Given the description of an element on the screen output the (x, y) to click on. 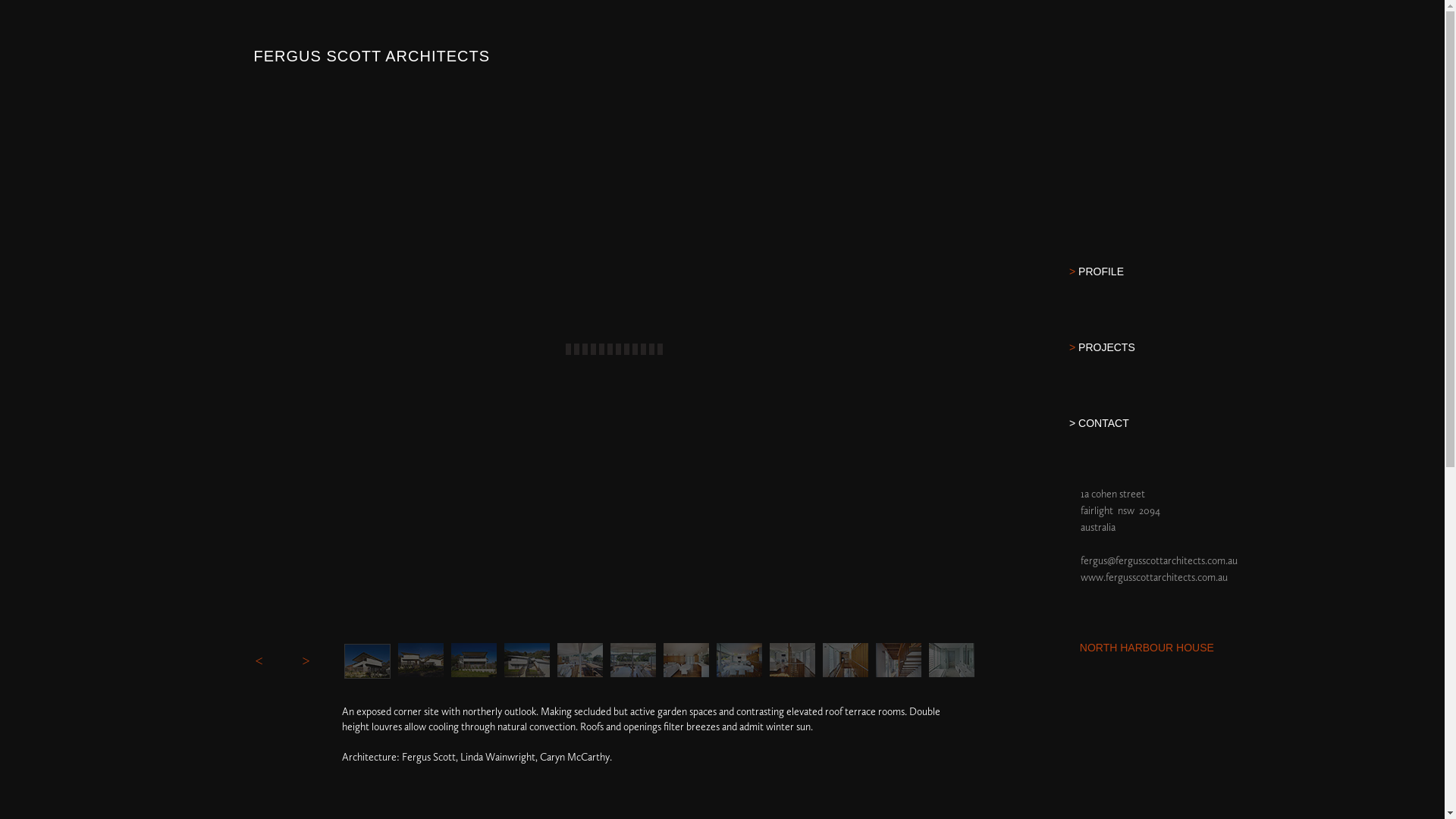
FERGUS SCOTT ARCHITECTS Element type: text (586, 64)
> PROJECTS Element type: text (1247, 372)
fergus@fergusscottarchitects.com.au Element type: text (1158, 560)
